Given the description of an element on the screen output the (x, y) to click on. 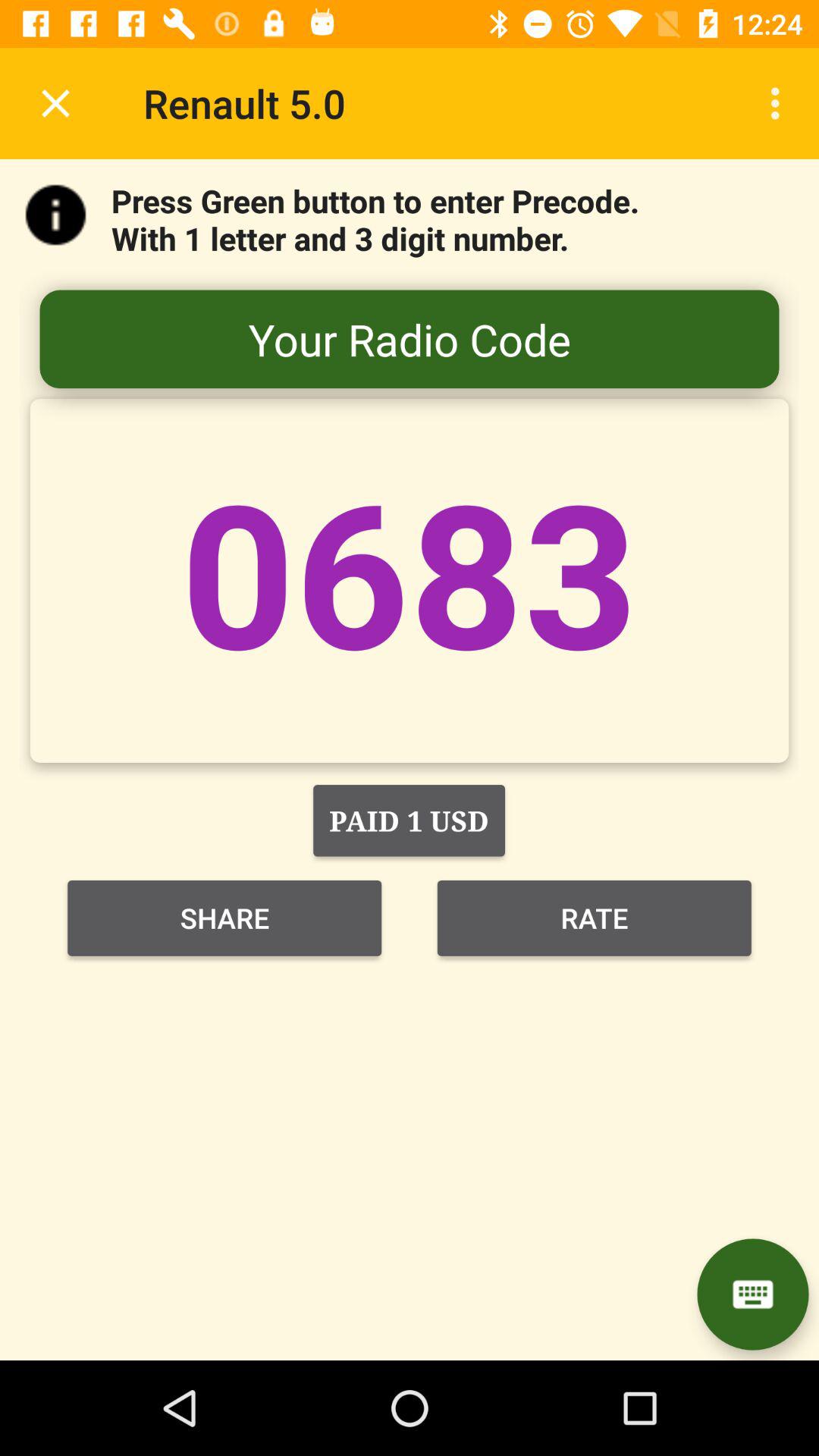
jump until paid 1 usd item (409, 820)
